Given the description of an element on the screen output the (x, y) to click on. 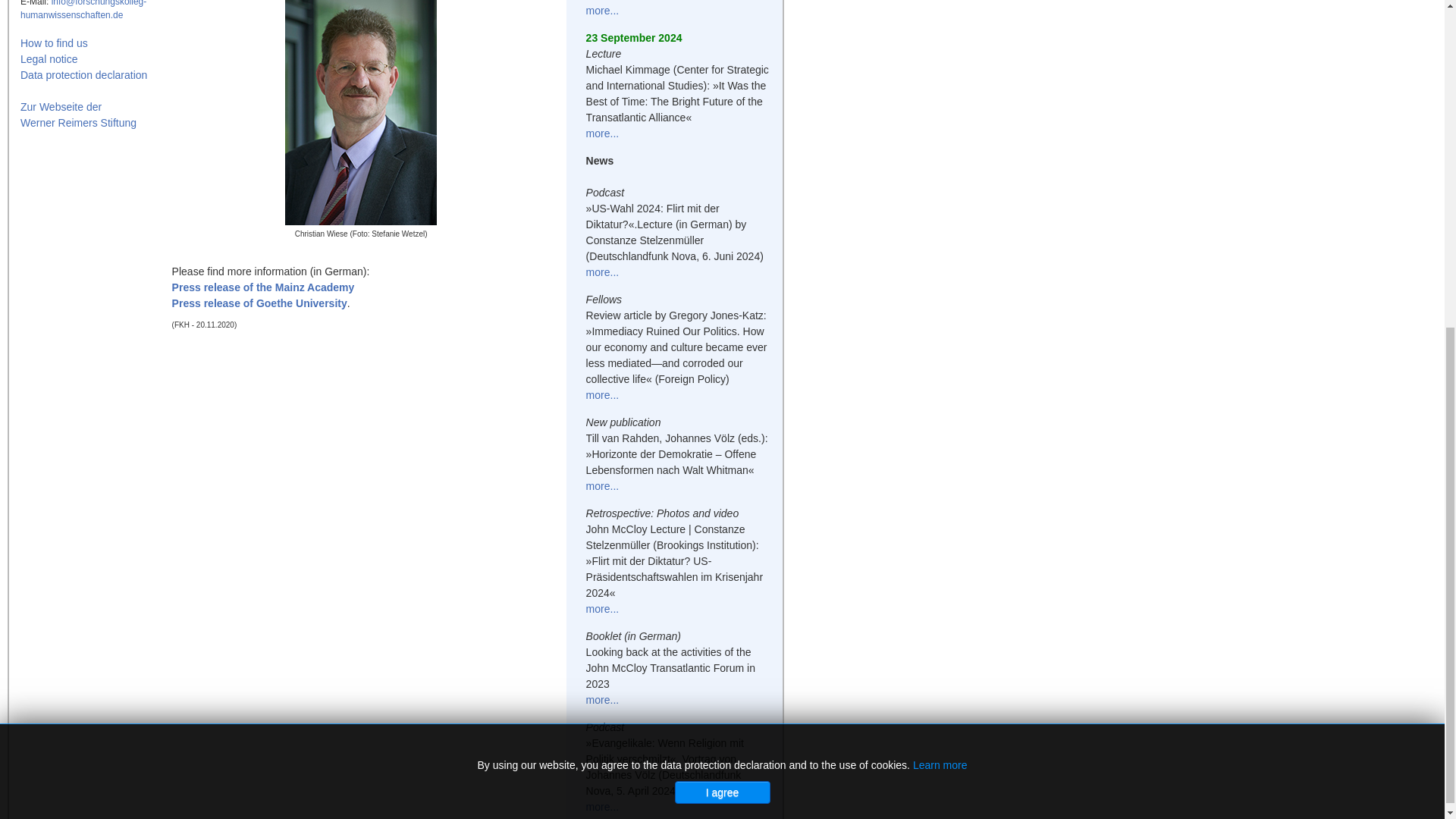
How to find us (53, 42)
more... (603, 133)
Learn more (940, 218)
Press release of the Mainz Academy (263, 287)
Press release of Goethe University (259, 303)
more... (603, 10)
Legal notice (49, 59)
Data protection declaration (83, 74)
